Given the description of an element on the screen output the (x, y) to click on. 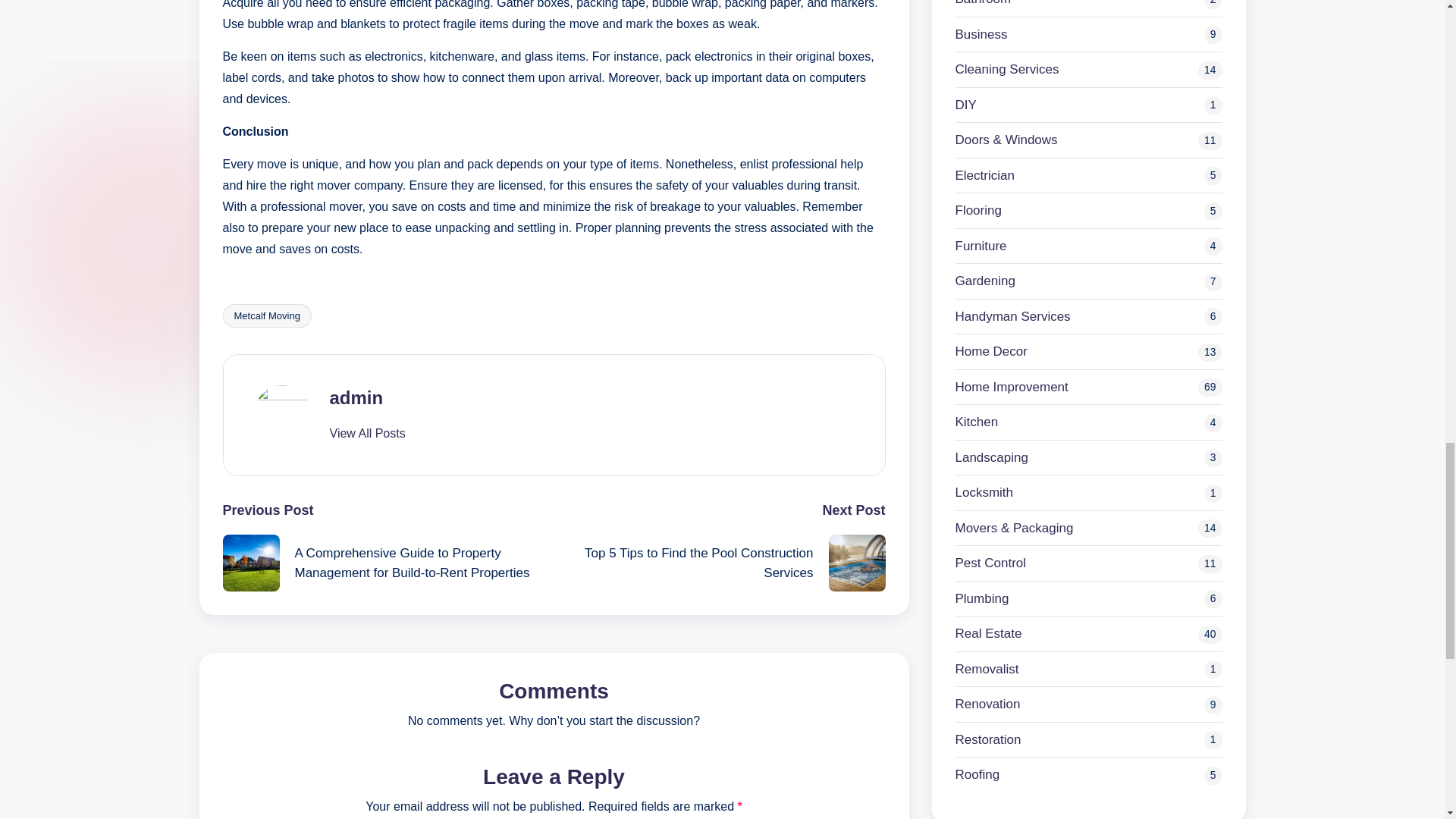
View All Posts (366, 433)
Top 5 Tips to Find the Pool Construction Services (719, 562)
Metcalf Moving (266, 315)
admin (355, 397)
